Given the description of an element on the screen output the (x, y) to click on. 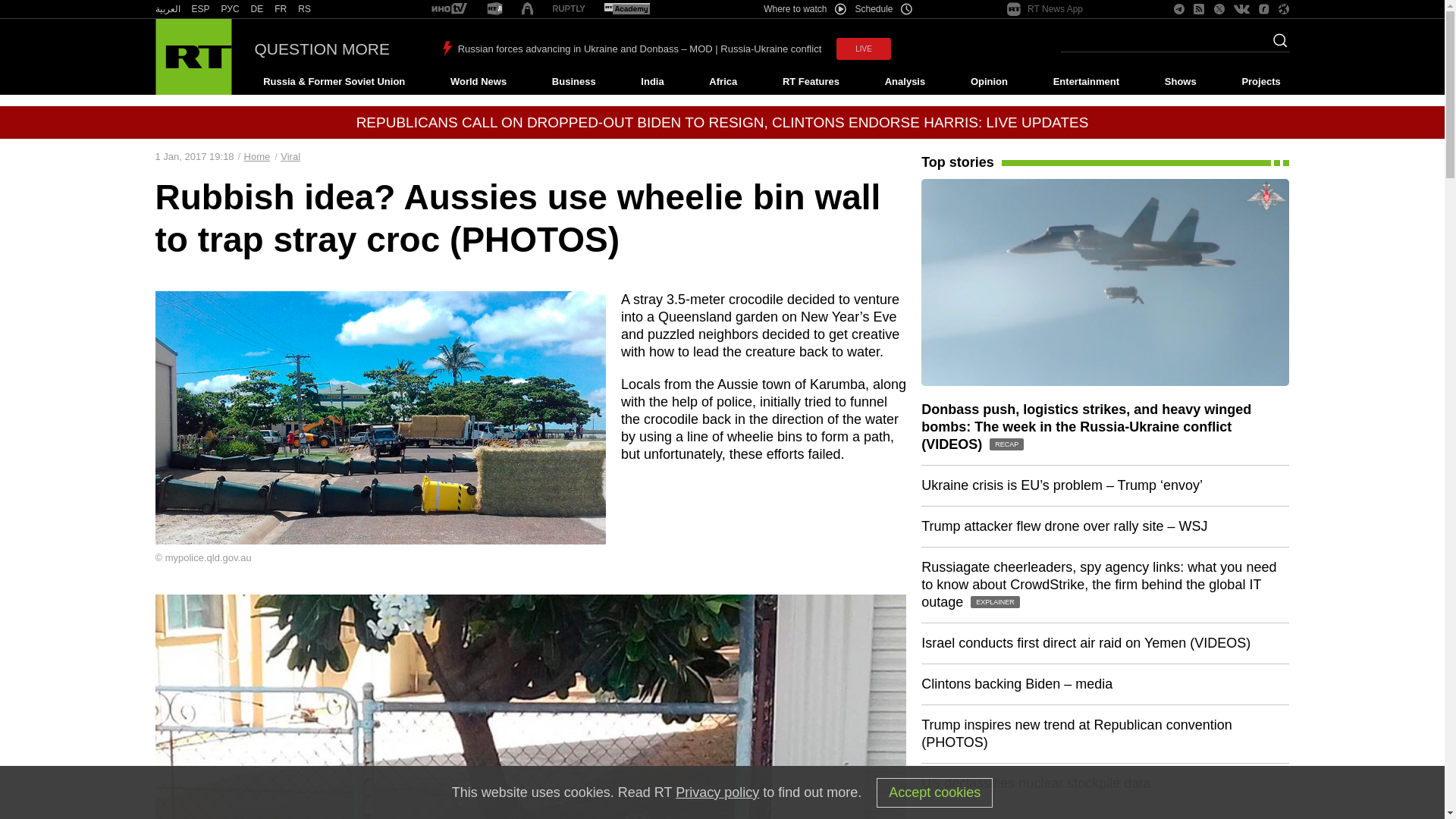
RT Features (810, 81)
RT  (166, 9)
DE (256, 9)
Shows (1180, 81)
World News (478, 81)
RT  (256, 9)
Analysis (905, 81)
QUESTION MORE (322, 48)
India (651, 81)
RT  (448, 9)
Schedule (884, 9)
RT  (304, 9)
RT News App (1045, 9)
FR (280, 9)
RS (304, 9)
